Given the description of an element on the screen output the (x, y) to click on. 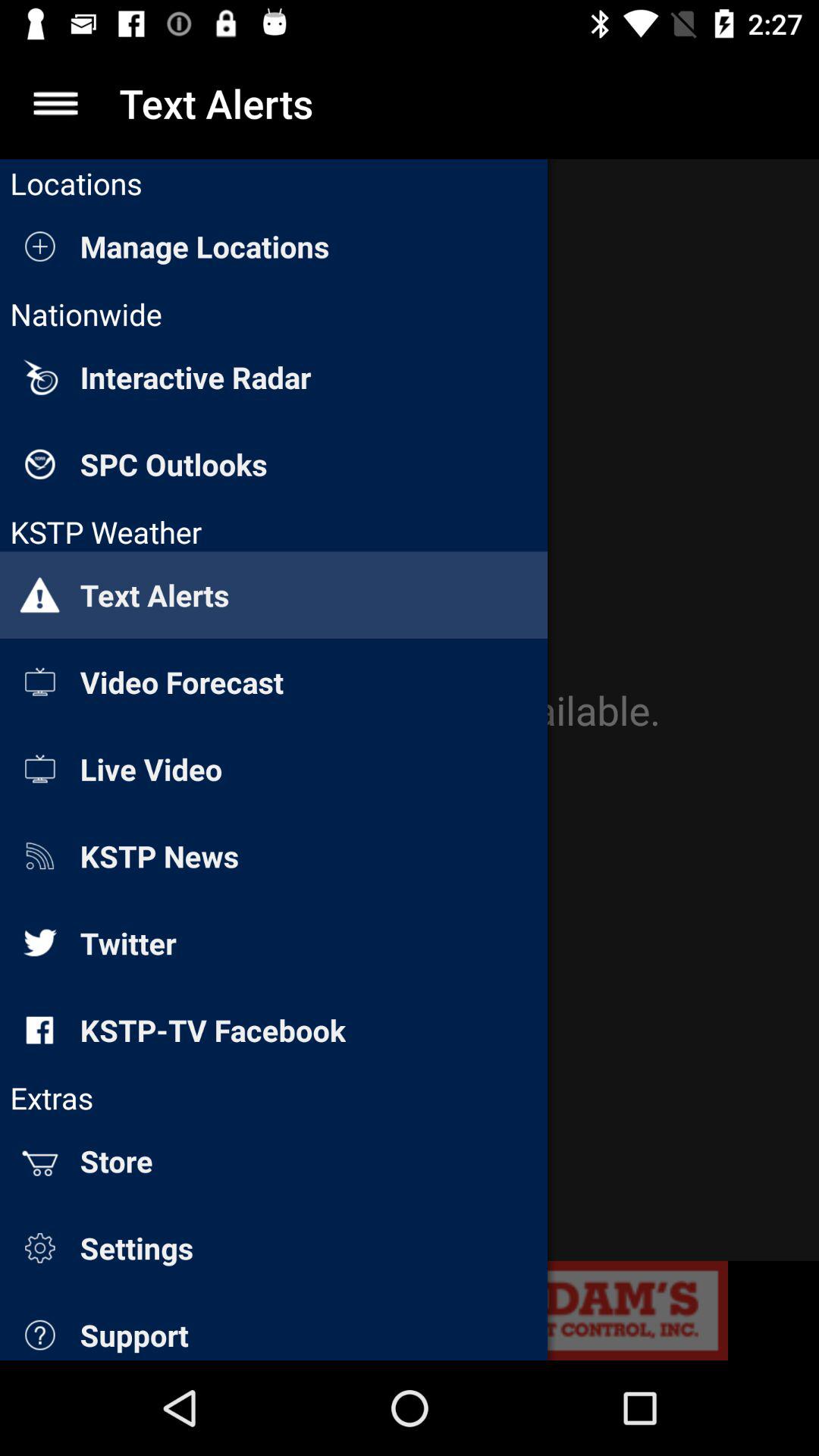
menu button (55, 103)
